Given the description of an element on the screen output the (x, y) to click on. 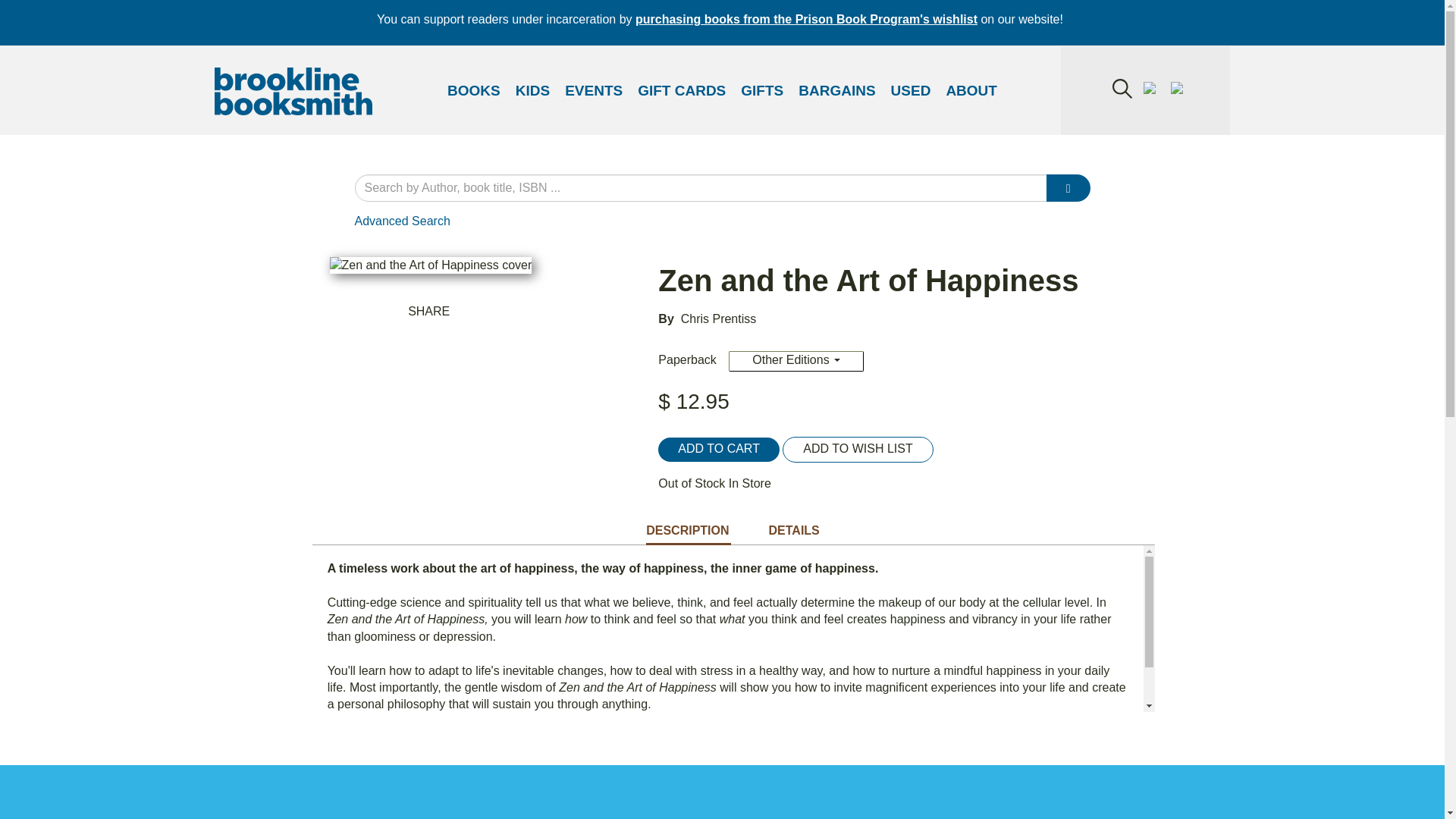
BOOKS (473, 90)
Home (292, 93)
purchasing books from the Prison Book Program's wishlist (805, 19)
KIDS (532, 90)
EVENTS (593, 90)
